Given the description of an element on the screen output the (x, y) to click on. 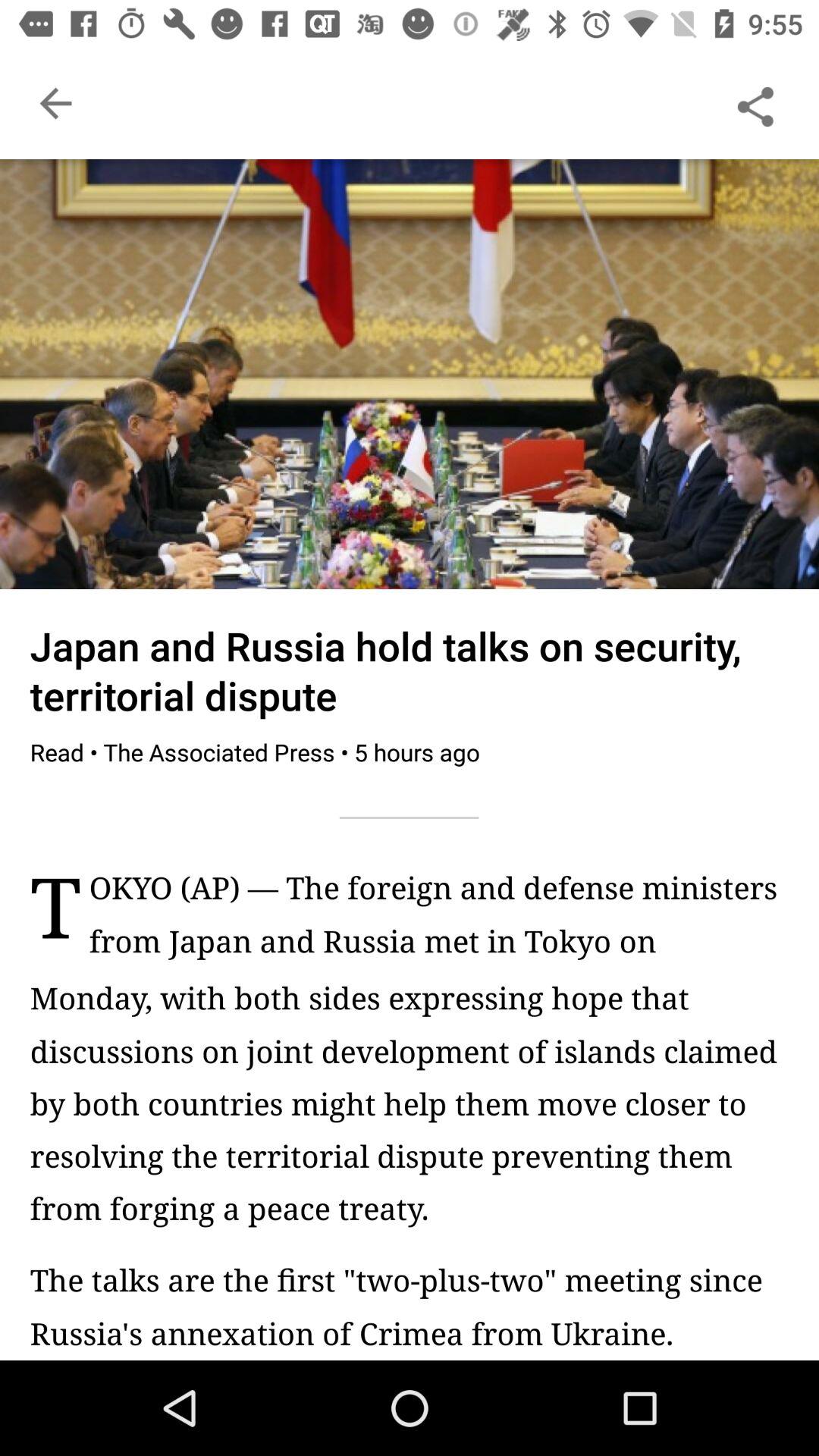
tap item next to t (438, 922)
